Given the description of an element on the screen output the (x, y) to click on. 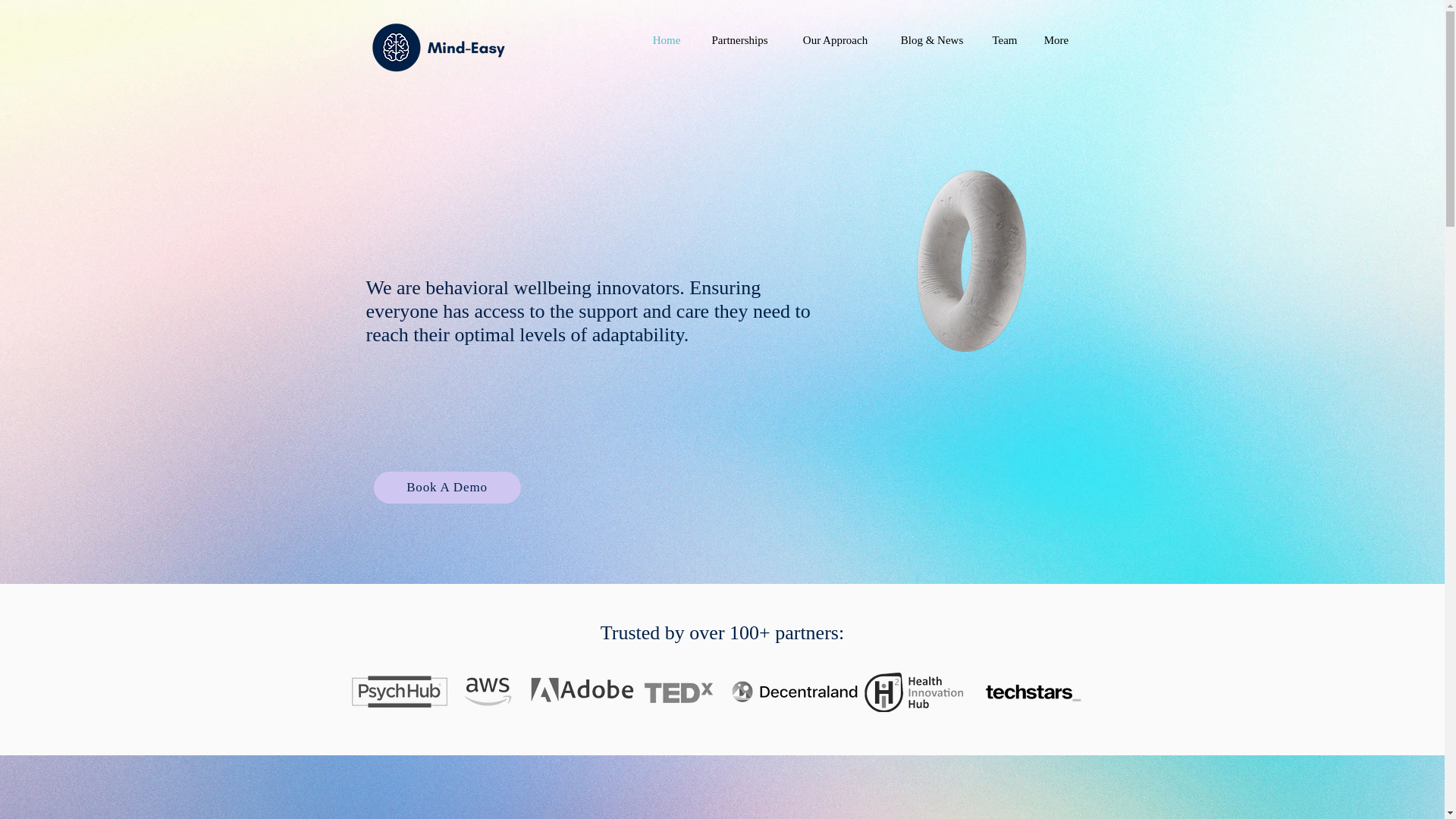
Home (666, 39)
Book A Demo (445, 487)
Team (1004, 39)
Our Approach (835, 39)
Partnerships (740, 39)
